Given the description of an element on the screen output the (x, y) to click on. 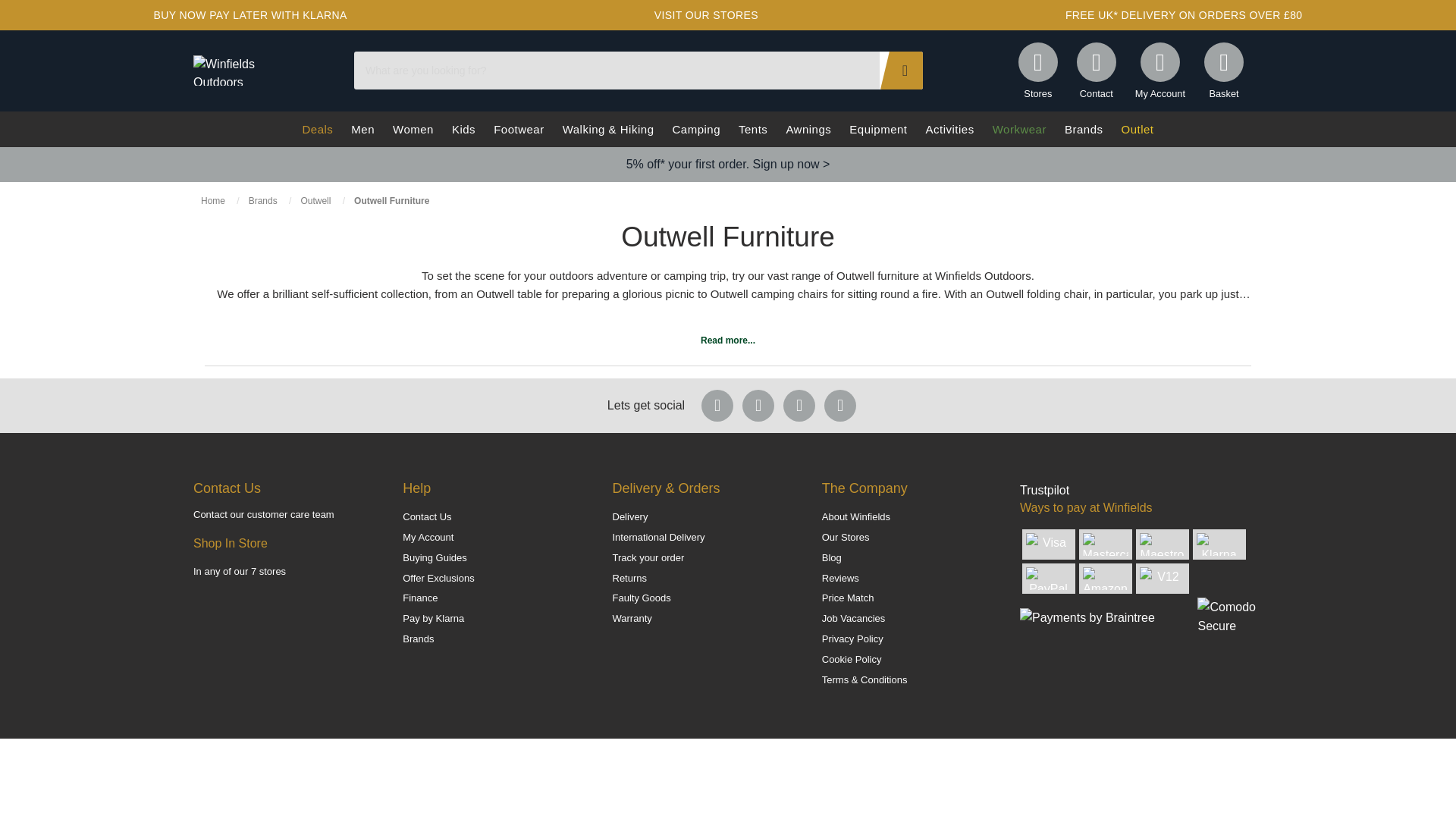
Winfields Outdoors (226, 70)
Deals (317, 129)
BUY NOW PAY LATER WITH KLARNA (249, 15)
Men (363, 129)
Go to Home Page (213, 200)
VISIT OUR STORES (706, 15)
Search (901, 70)
Search (901, 70)
